Given the description of an element on the screen output the (x, y) to click on. 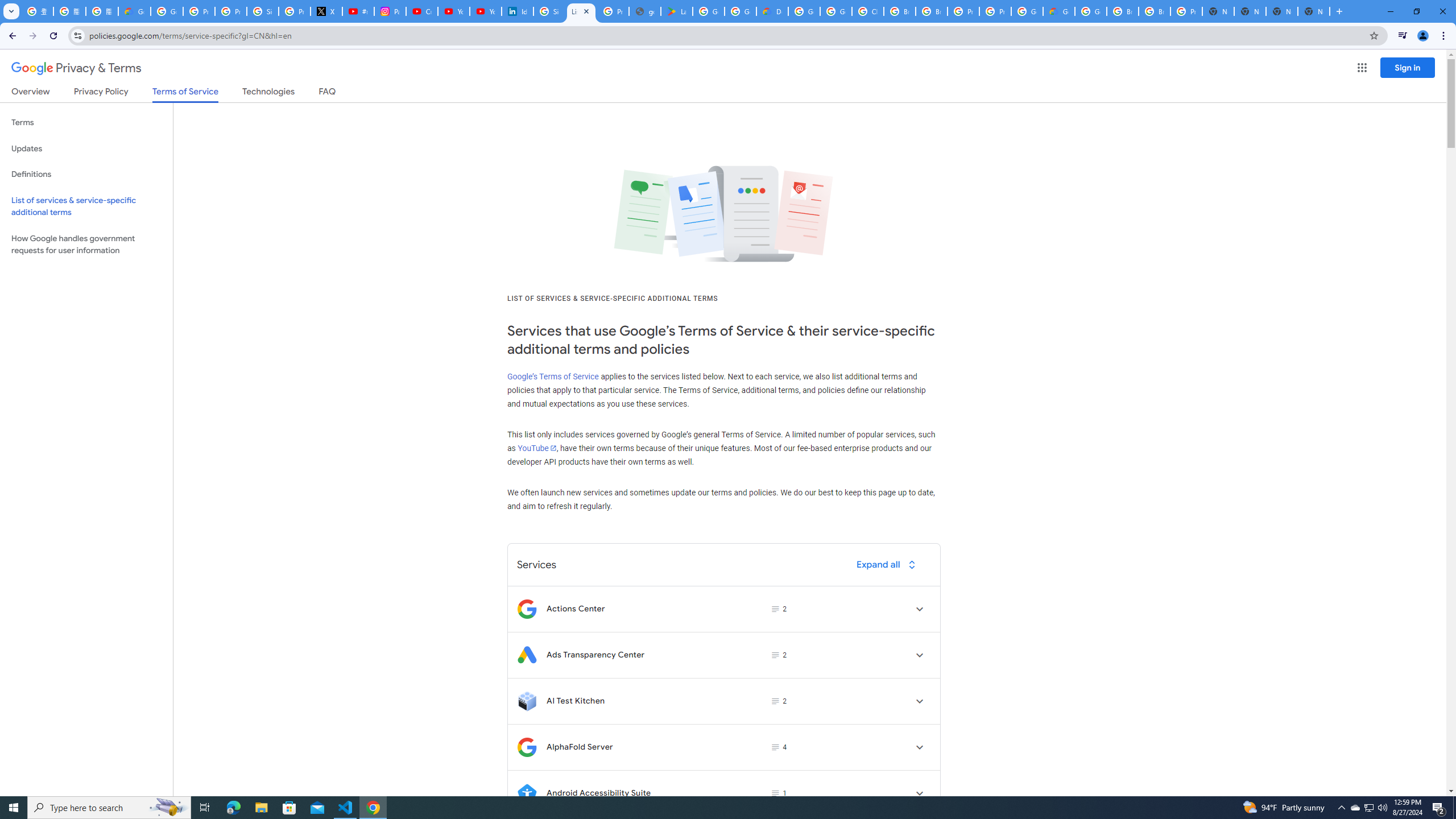
New Tab (1217, 11)
X (326, 11)
New Tab (1313, 11)
Last Shelter: Survival - Apps on Google Play (676, 11)
